Given the description of an element on the screen output the (x, y) to click on. 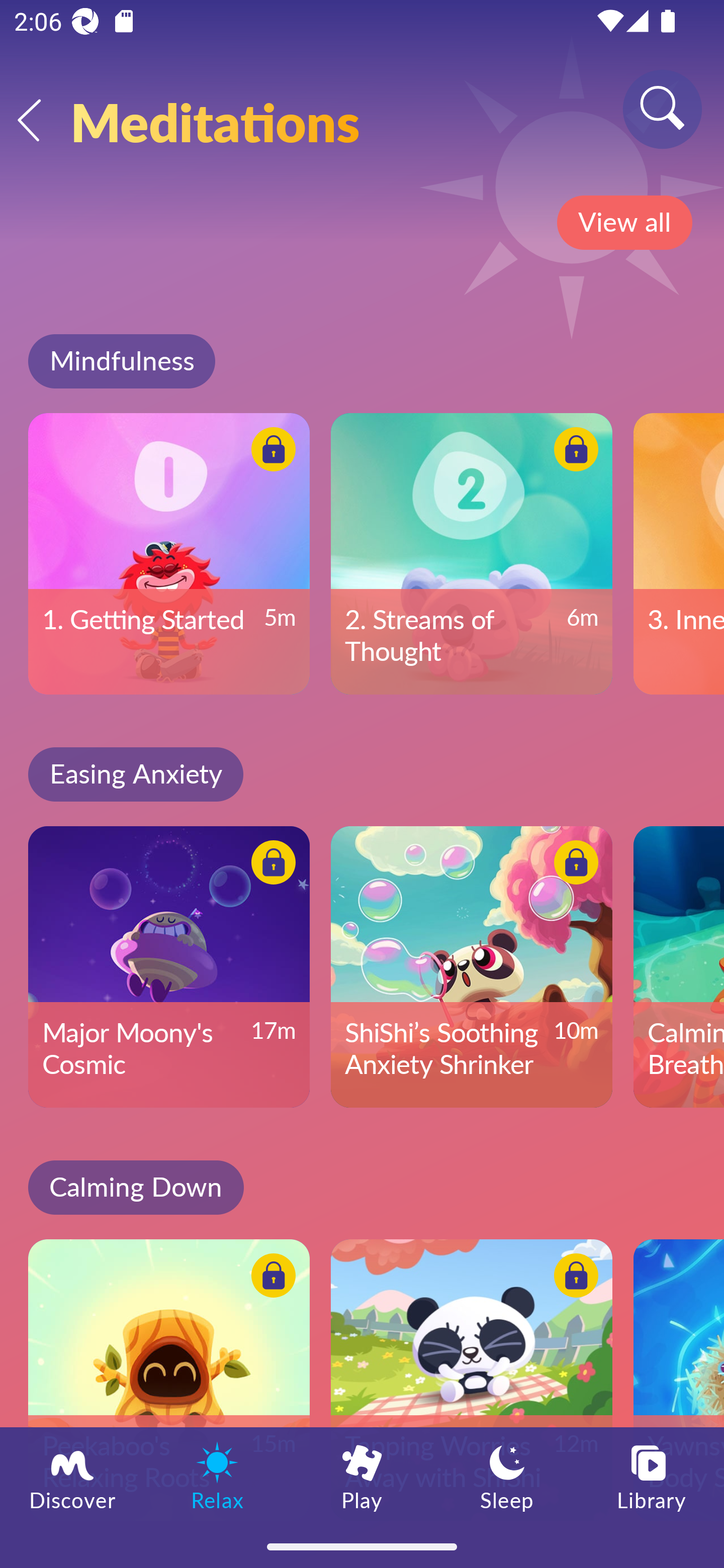
View all (624, 222)
Featured Content Button 1. Getting Started 5m (168, 553)
Button (269, 451)
Featured Content Button 2. Streams of Thought 6m (471, 553)
Button (573, 451)
Button (269, 865)
Button (573, 865)
Button (269, 1277)
Button (573, 1277)
Discover (72, 1475)
Play (361, 1475)
Sleep (506, 1475)
Library (651, 1475)
